Given the description of an element on the screen output the (x, y) to click on. 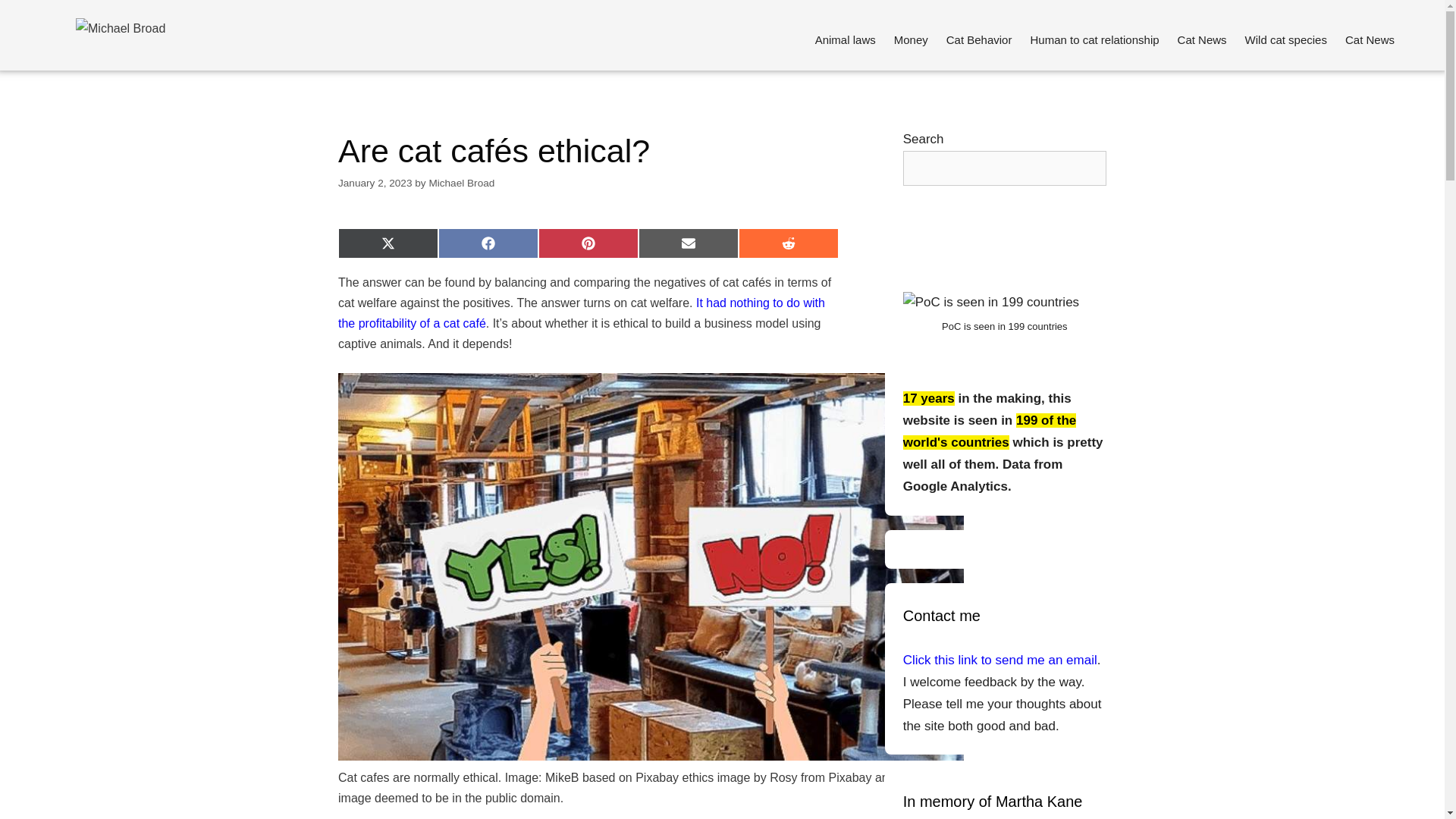
Animal laws (845, 40)
Share on Reddit (788, 243)
Share on Email (688, 243)
Wild cat species (1286, 40)
Money (911, 40)
Human to cat relationship (1093, 40)
Click this link to send me an email (999, 659)
Share on Pinterest (588, 243)
Cat News (1202, 40)
Share on Facebook (488, 243)
Cat News (1369, 40)
View all posts by Michael Broad (461, 183)
Cat Behavior (979, 40)
Michael Broad (461, 183)
